Given the description of an element on the screen output the (x, y) to click on. 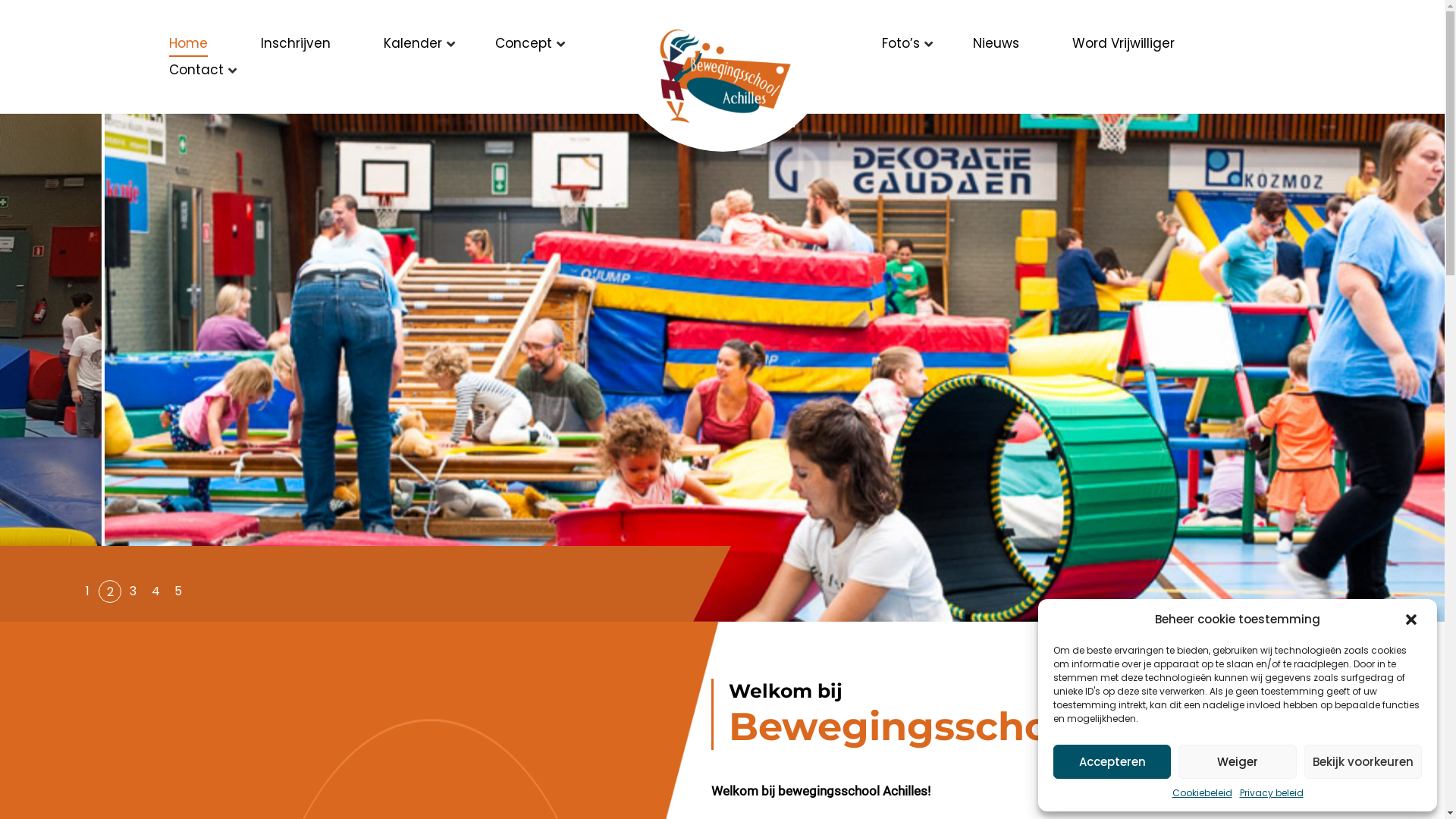
Home Element type: text (187, 43)
Bekijk voorkeuren Element type: text (1362, 761)
Nieuws Element type: text (995, 43)
Contact Element type: text (195, 69)
Inschrijven Element type: text (295, 43)
Cookiebeleid Element type: text (1202, 793)
Word Vrijwilliger Element type: text (1123, 43)
Kalender Element type: text (412, 43)
Weiger Element type: text (1236, 761)
Concept Element type: text (522, 43)
Accepteren Element type: text (1111, 761)
Privacy beleid Element type: text (1270, 793)
